Given the description of an element on the screen output the (x, y) to click on. 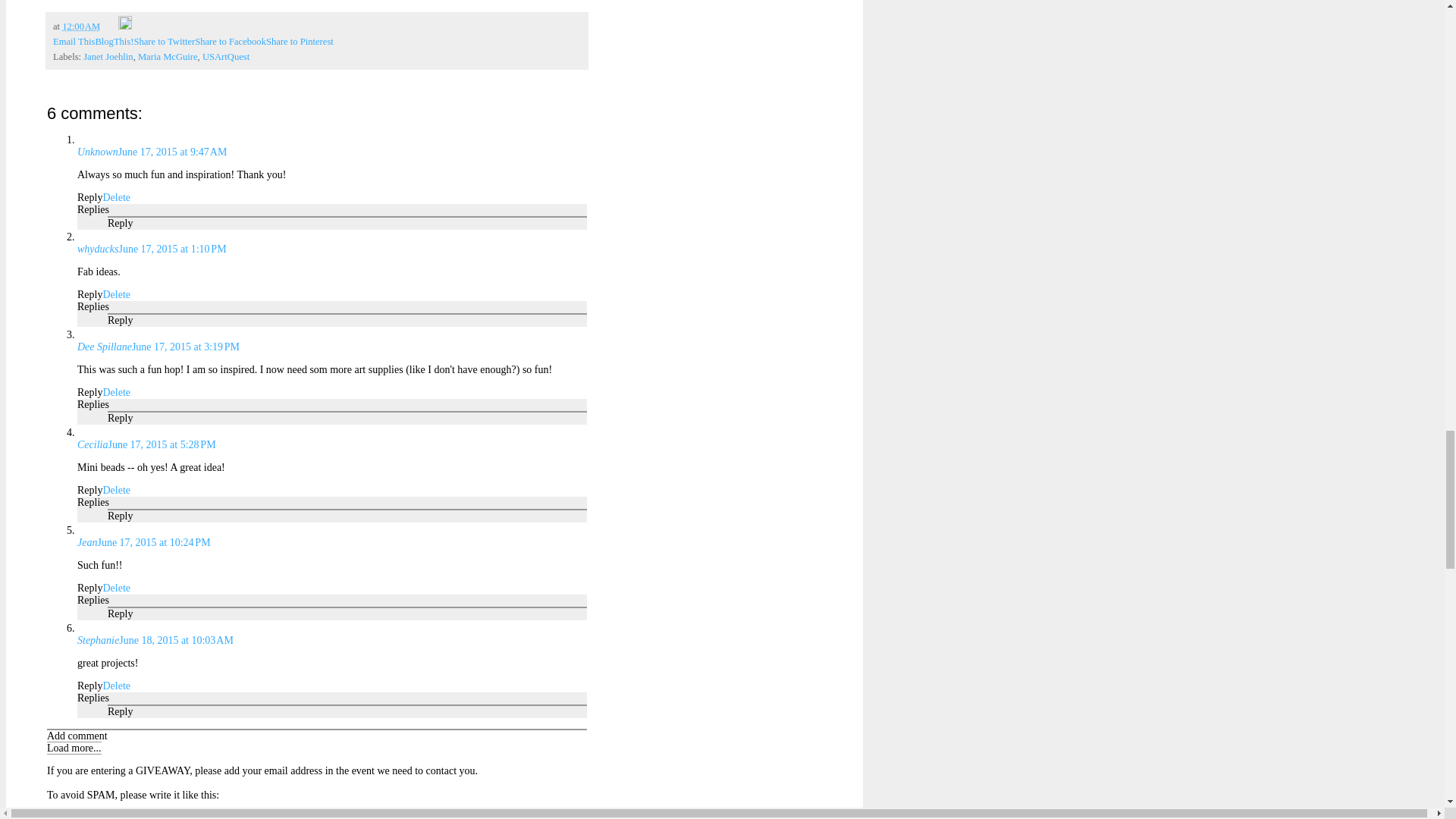
Email Post (109, 26)
permanent link (81, 26)
Edit Post (124, 26)
BlogThis! (113, 41)
Share to Pinterest (299, 41)
Share to Facebook (230, 41)
Email This (73, 41)
Share to Twitter (164, 41)
